Given the description of an element on the screen output the (x, y) to click on. 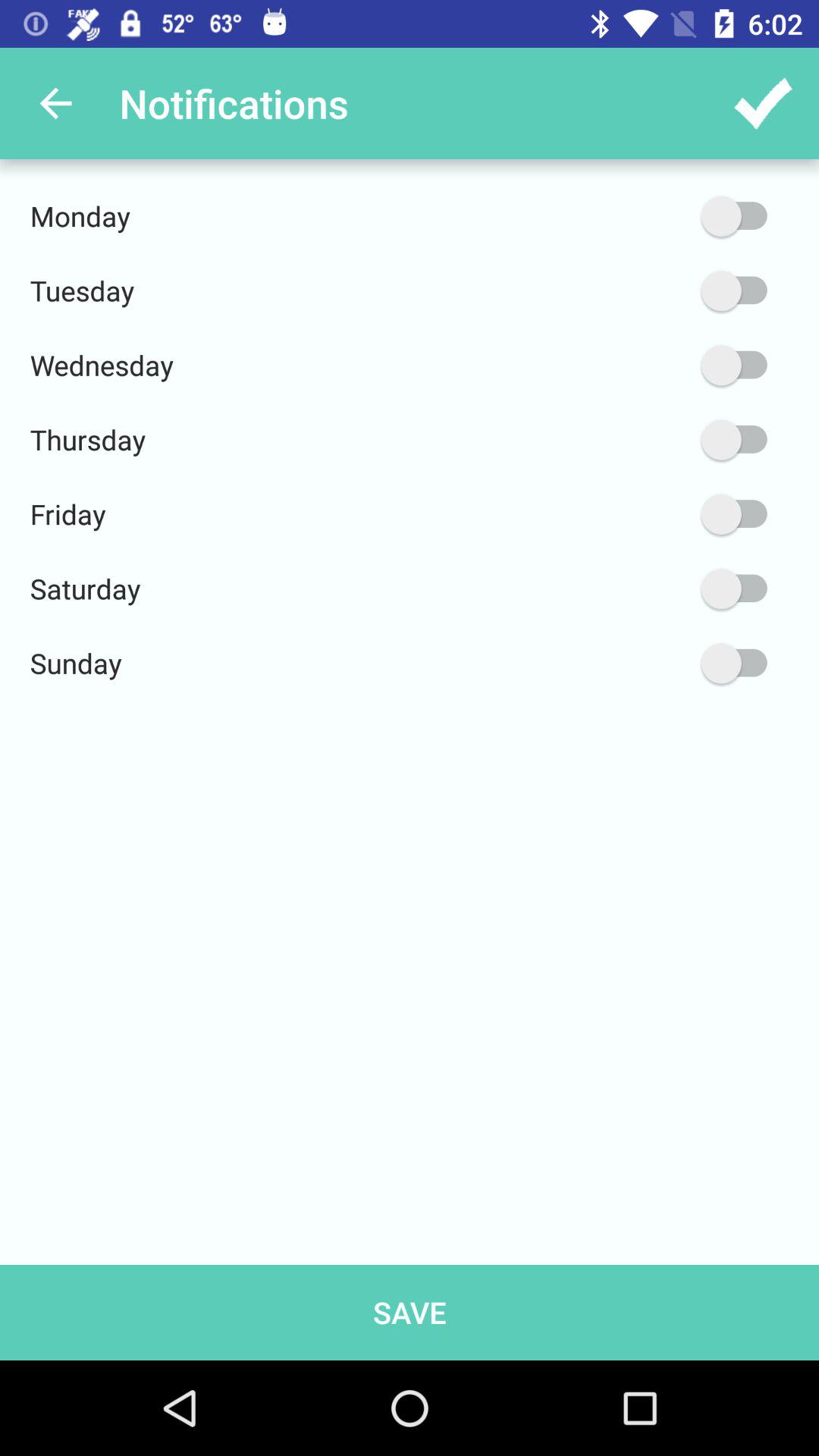
toggle monday (661, 216)
